Given the description of an element on the screen output the (x, y) to click on. 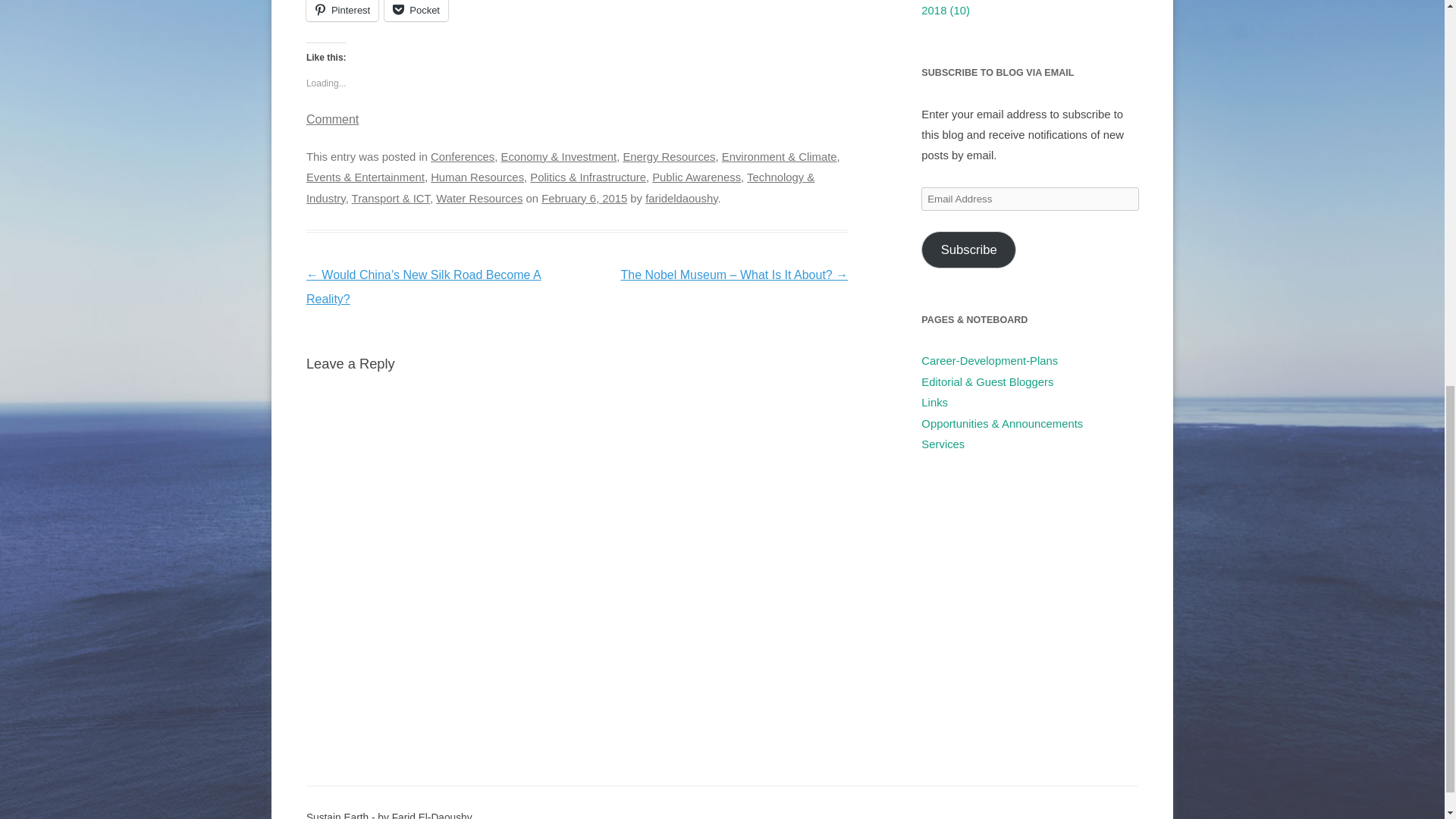
Energy Resources (668, 156)
View all posts by farideldaoushy (681, 198)
Click to share on Pocket (416, 10)
Pocket (416, 10)
Human Resources (477, 177)
Public Awareness (696, 177)
Pinterest (341, 10)
7:00 am (584, 198)
Click to share on Pinterest (341, 10)
Conferences (462, 156)
Water Resources (478, 198)
farideldaoushy (681, 198)
February 6, 2015 (584, 198)
Comment (331, 119)
